Given the description of an element on the screen output the (x, y) to click on. 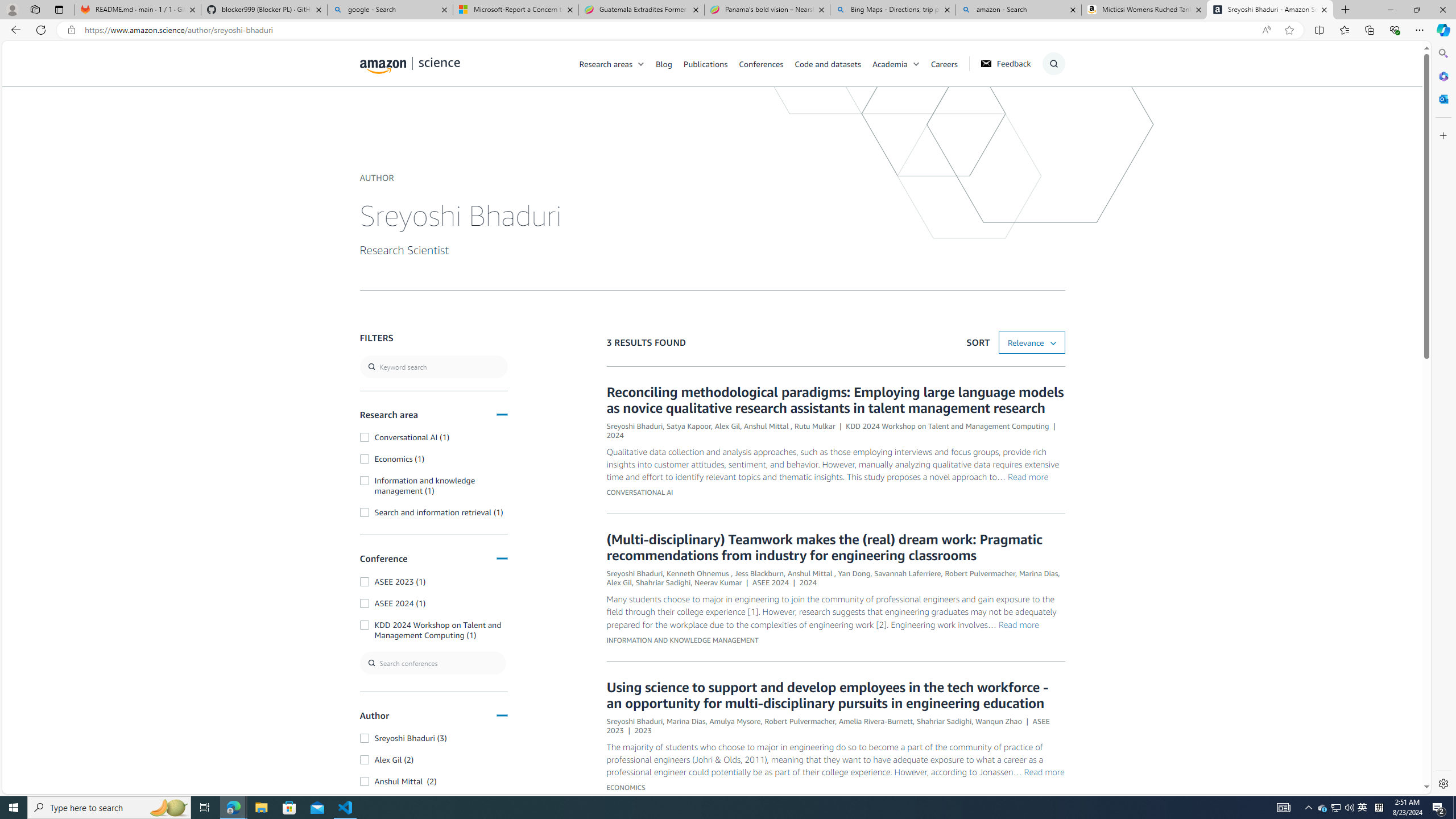
Jess Blackburn (758, 573)
